Given the description of an element on the screen output the (x, y) to click on. 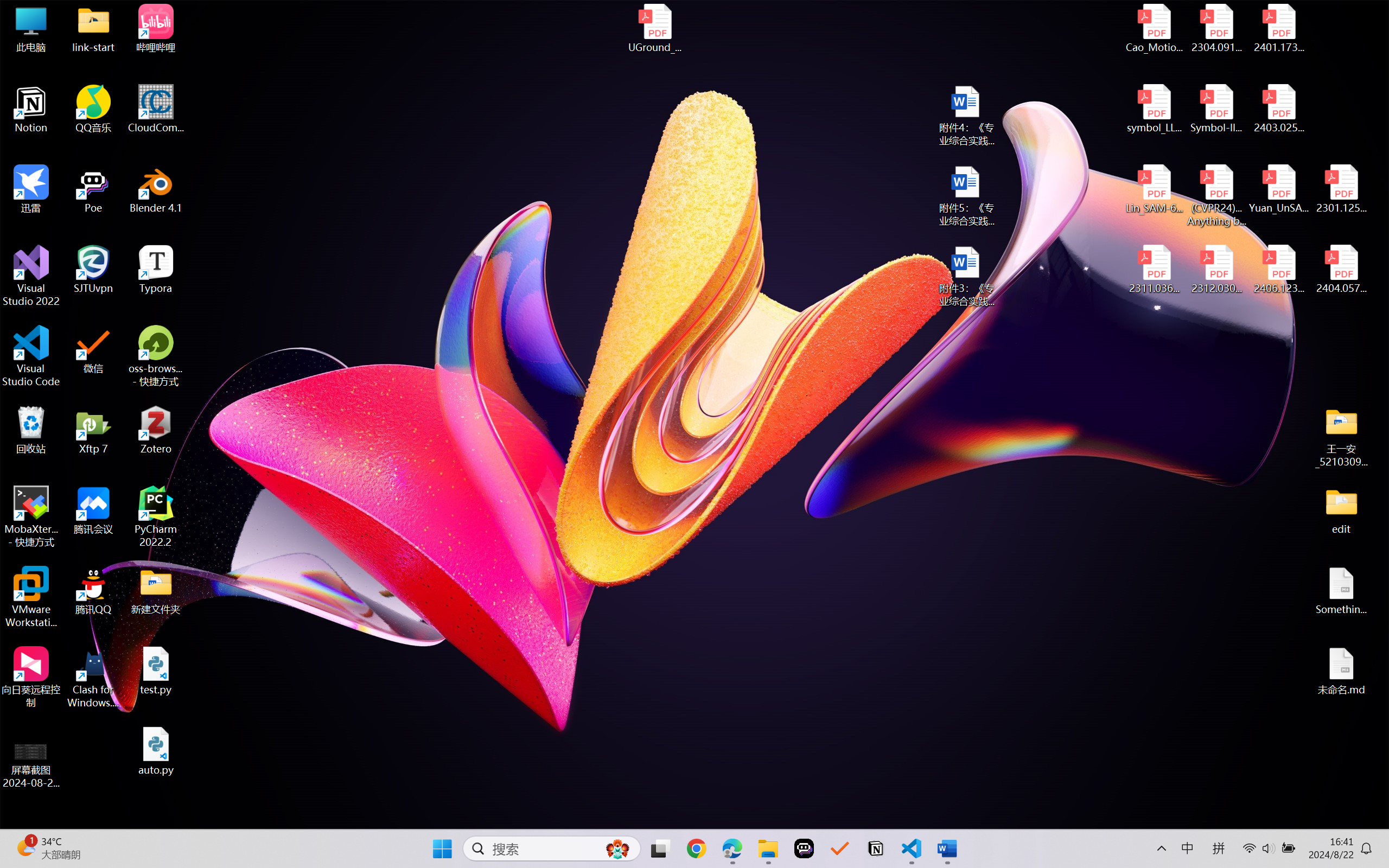
symbol_LLM.pdf (1154, 109)
2401.17399v1.pdf (1278, 28)
